Given the description of an element on the screen output the (x, y) to click on. 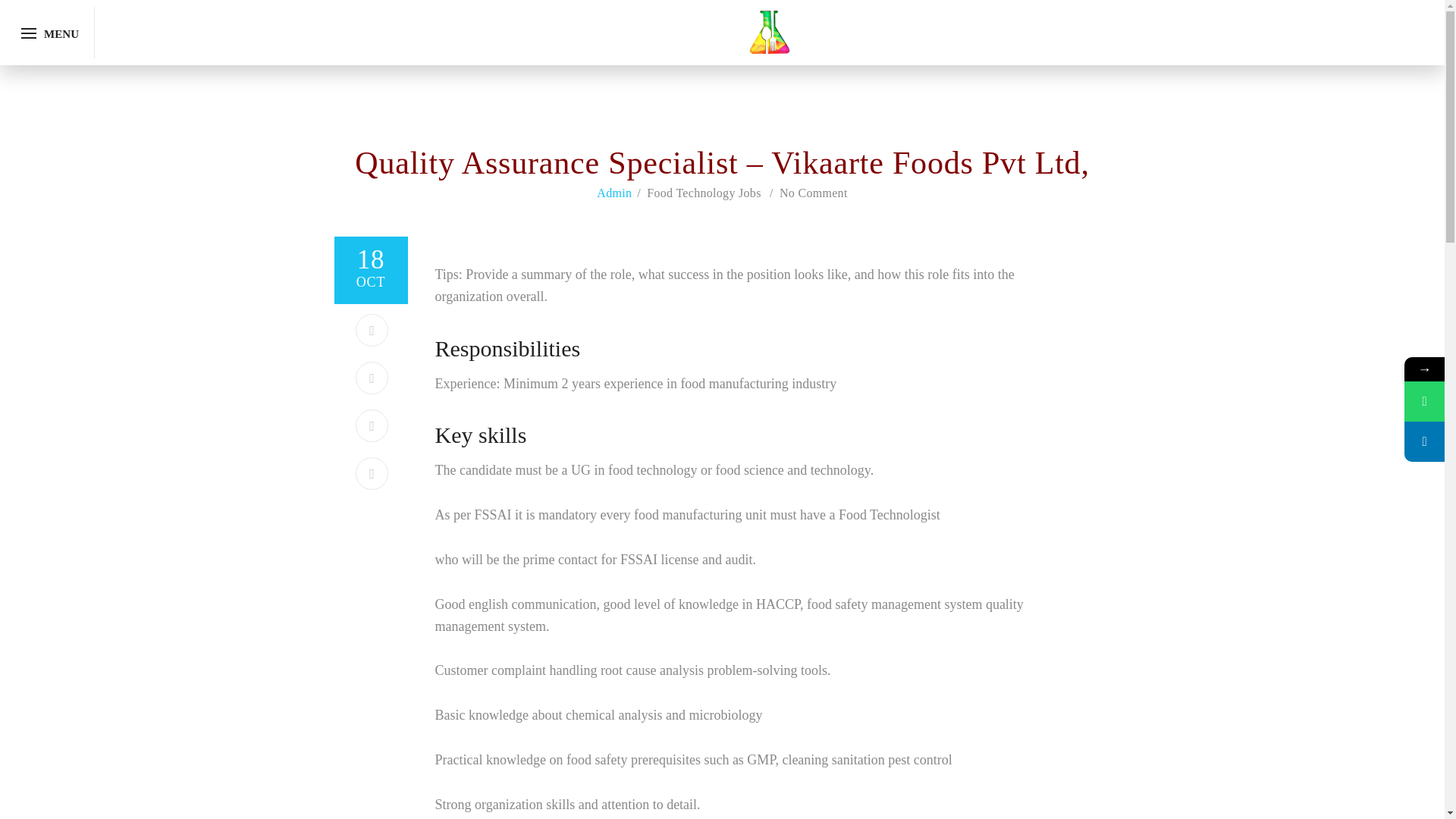
Google (371, 473)
Pinterest (371, 377)
Twitter (371, 329)
Food Technology Jobs (703, 192)
Admin (613, 192)
Facebook (371, 282)
No Comment (812, 192)
LinkedIn (371, 425)
foodtechnetwork - The Network of Food technologists. (770, 30)
